Given the description of an element on the screen output the (x, y) to click on. 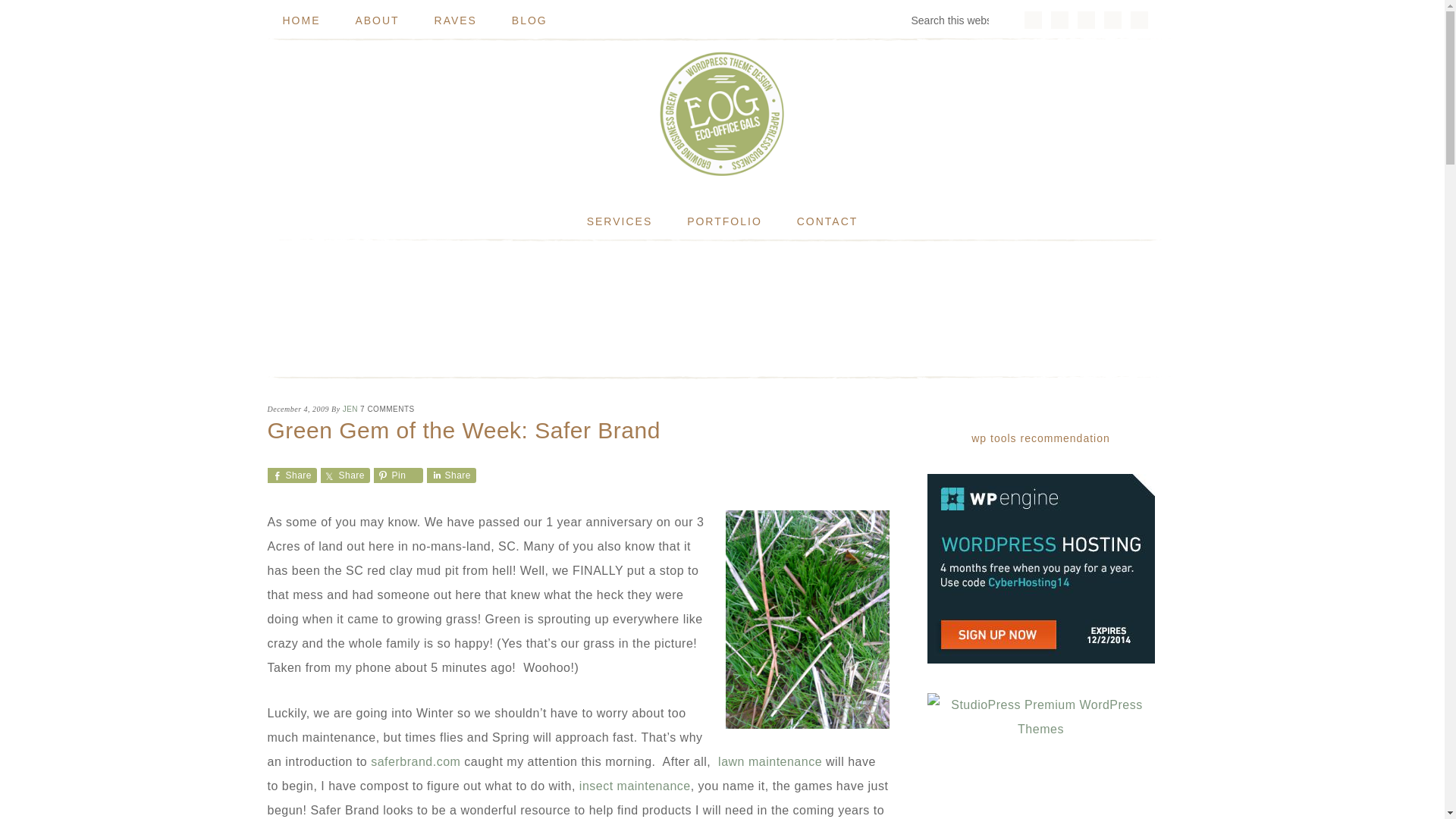
Share (451, 475)
ECO-OFFICE GALS (721, 114)
7 COMMENTS (386, 408)
Pin (397, 475)
HOME (300, 20)
ABOUT (376, 20)
PORTFOLIO (724, 220)
BLOG (529, 20)
Advertisement (721, 305)
Share (290, 475)
saferbrand.com (415, 761)
insect maintenance (634, 785)
